Given the description of an element on the screen output the (x, y) to click on. 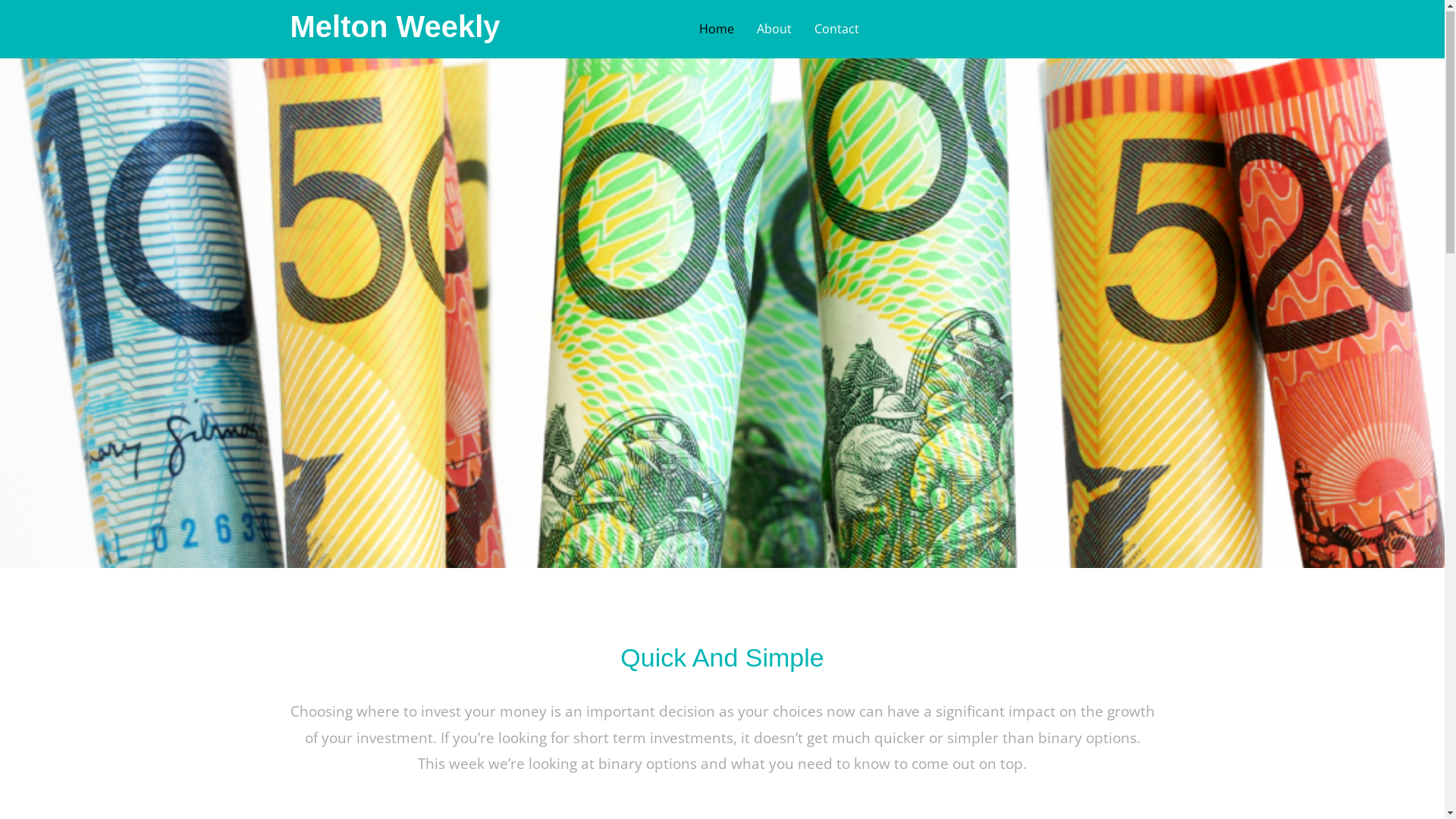
About Element type: text (774, 29)
Contact Element type: text (836, 29)
Home Element type: text (716, 29)
